Given the description of an element on the screen output the (x, y) to click on. 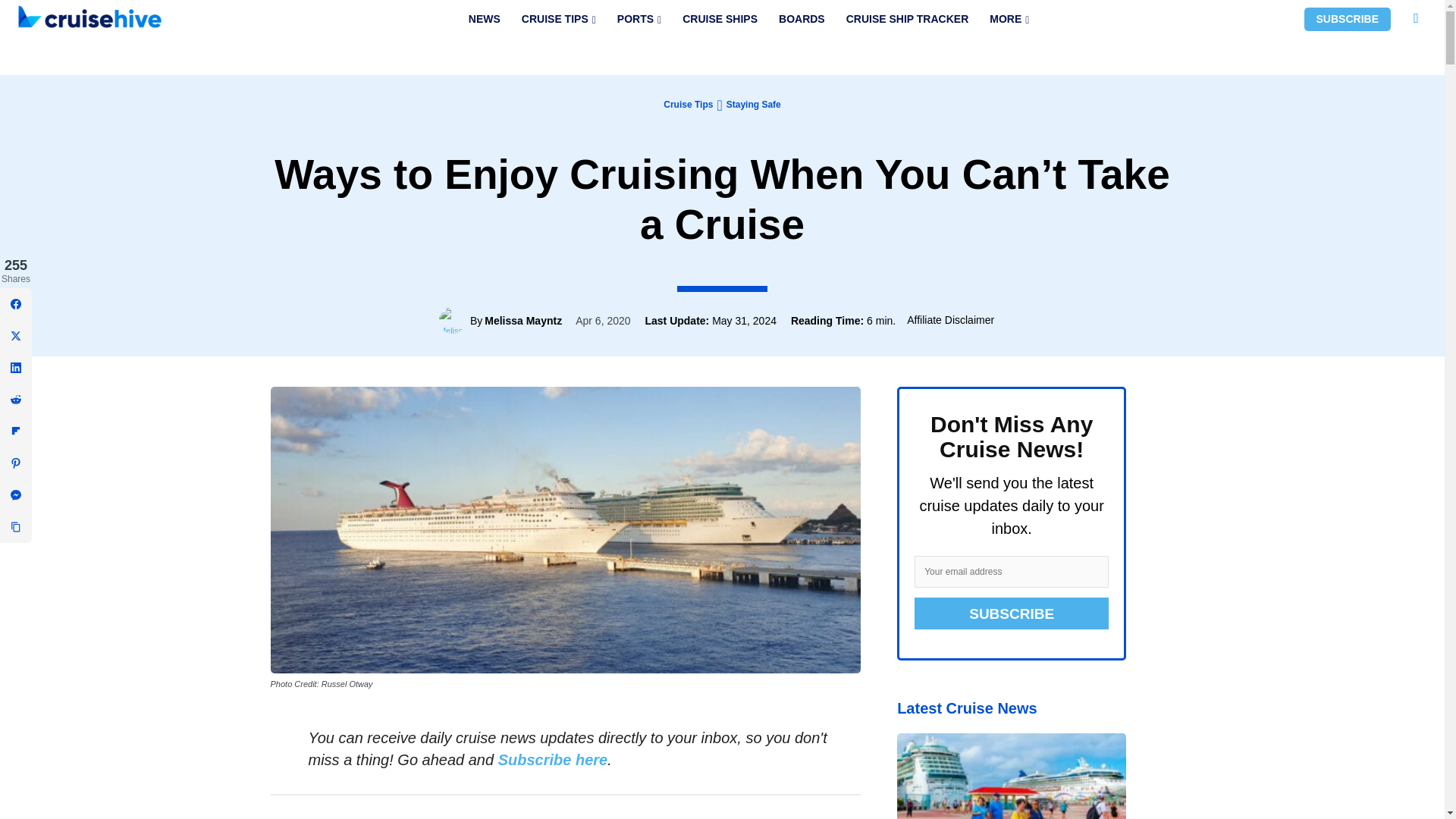
SUBSCRIBE (1347, 19)
CRUISE TIPS (559, 19)
Melissa Mayntz (454, 320)
NEWS (484, 19)
View all posts in Staying Safe (753, 104)
View all posts in Cruise Tips (688, 104)
PORTS (639, 19)
